Given the description of an element on the screen output the (x, y) to click on. 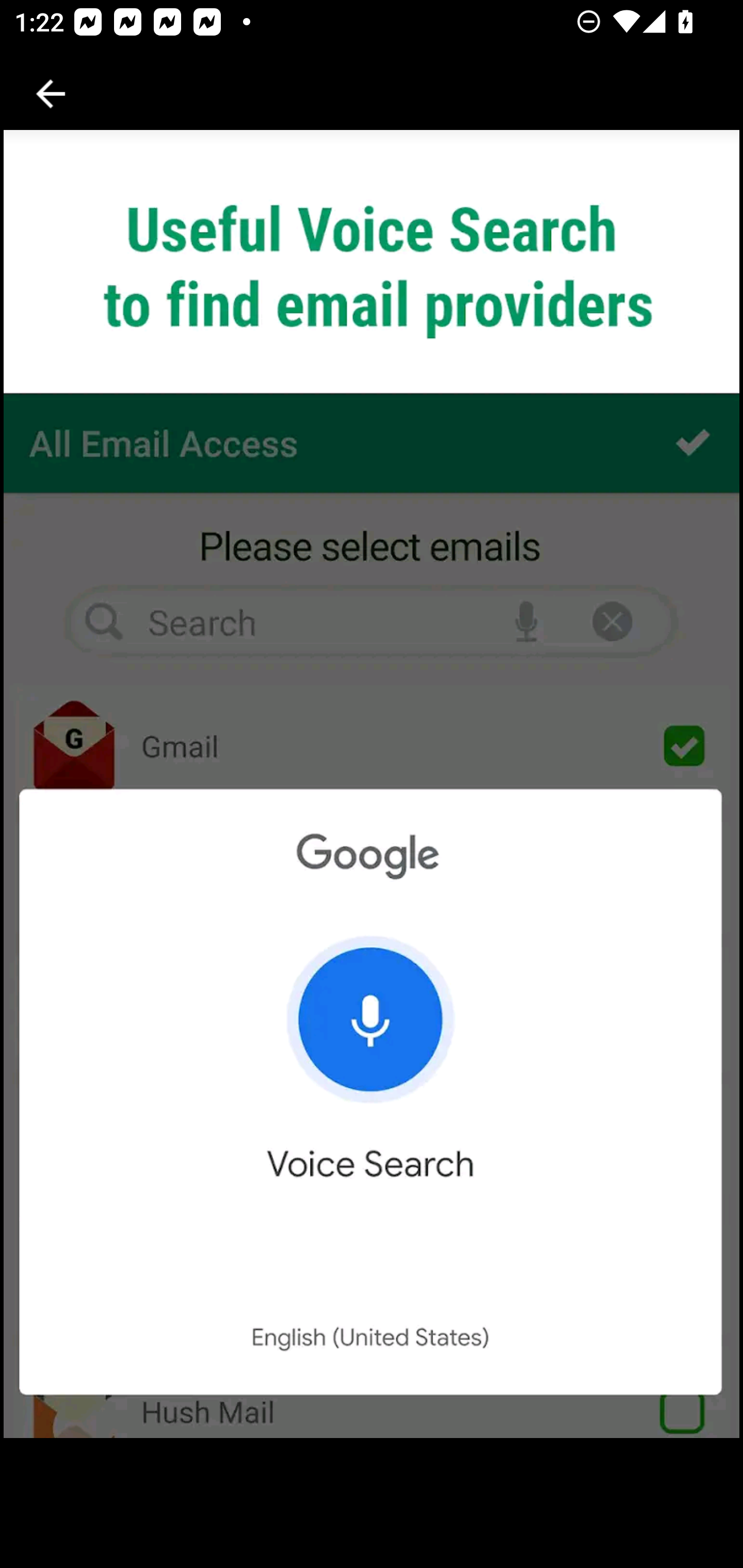
Back (50, 93)
